Given the description of an element on the screen output the (x, y) to click on. 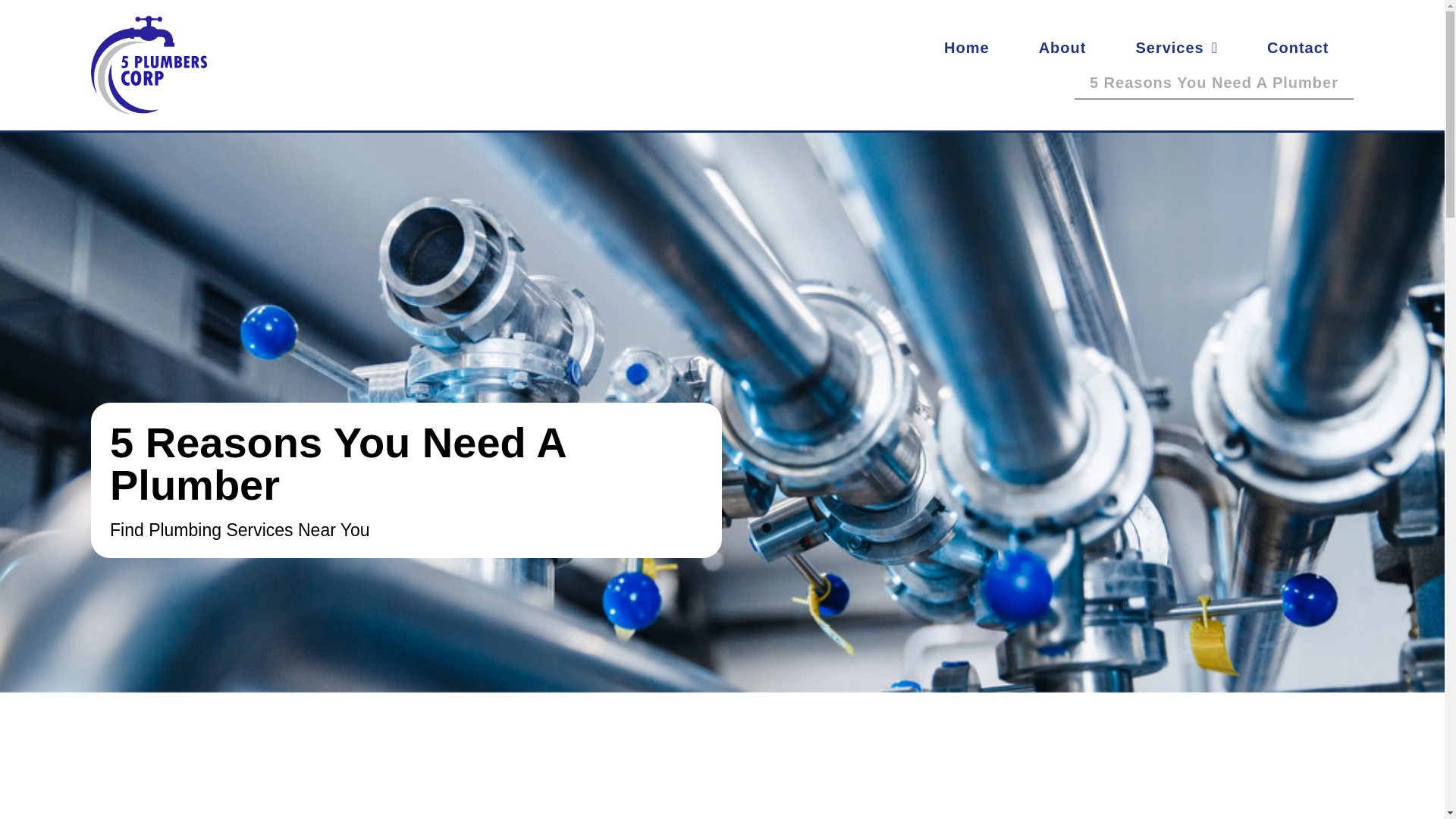
Contact (1297, 47)
About (1062, 47)
Home (966, 47)
Services (1176, 47)
5 Reasons You Need A Plumber (1214, 82)
